Given the description of an element on the screen output the (x, y) to click on. 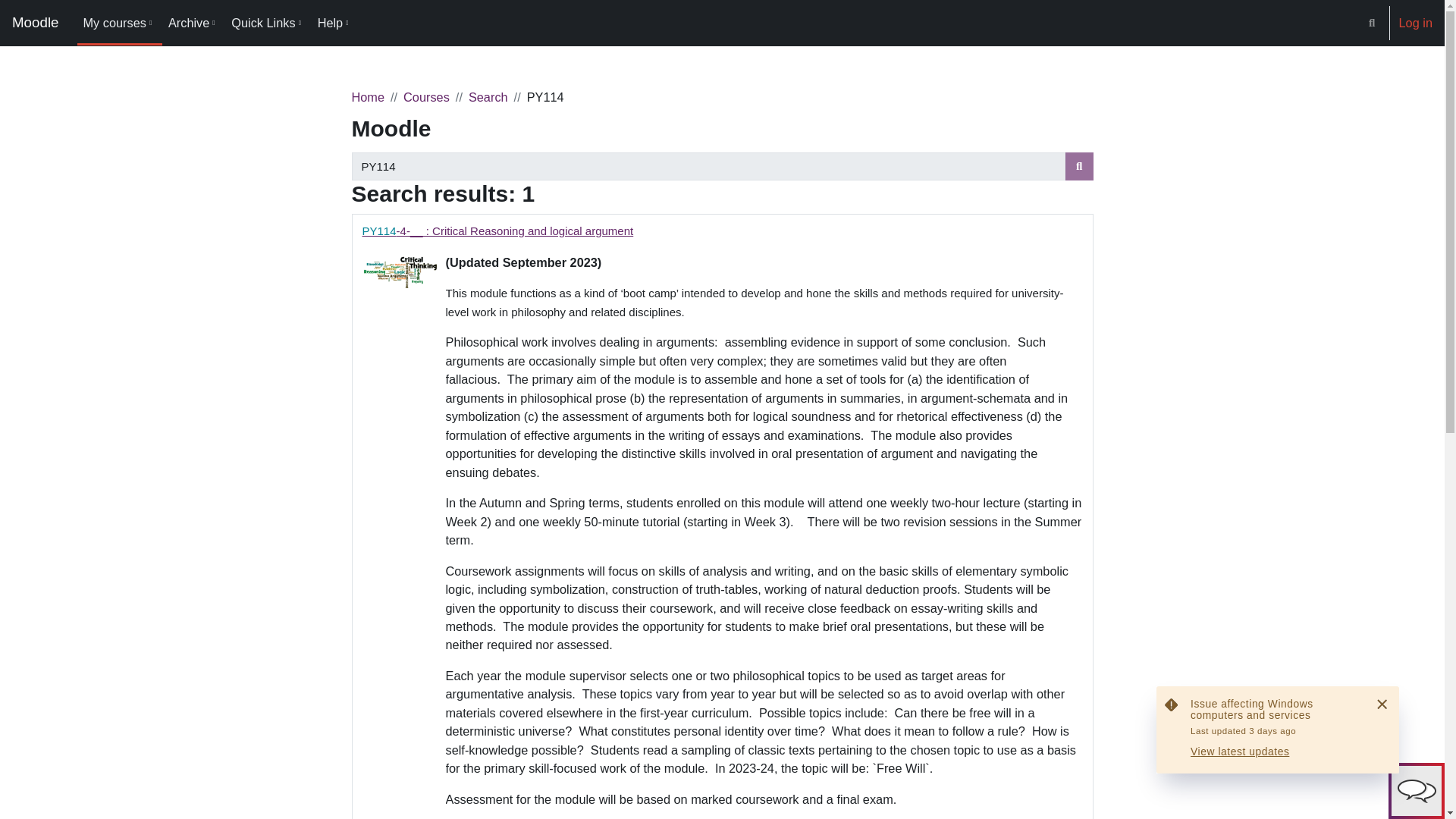
My courses (119, 22)
Toggle search input (1372, 22)
Log in (1415, 22)
Quick Links (268, 22)
Help (335, 22)
PY114 (708, 166)
Moodle (35, 22)
Toggle search input (1372, 22)
Archive (193, 22)
University of Essex IT Status (1277, 729)
